Given the description of an element on the screen output the (x, y) to click on. 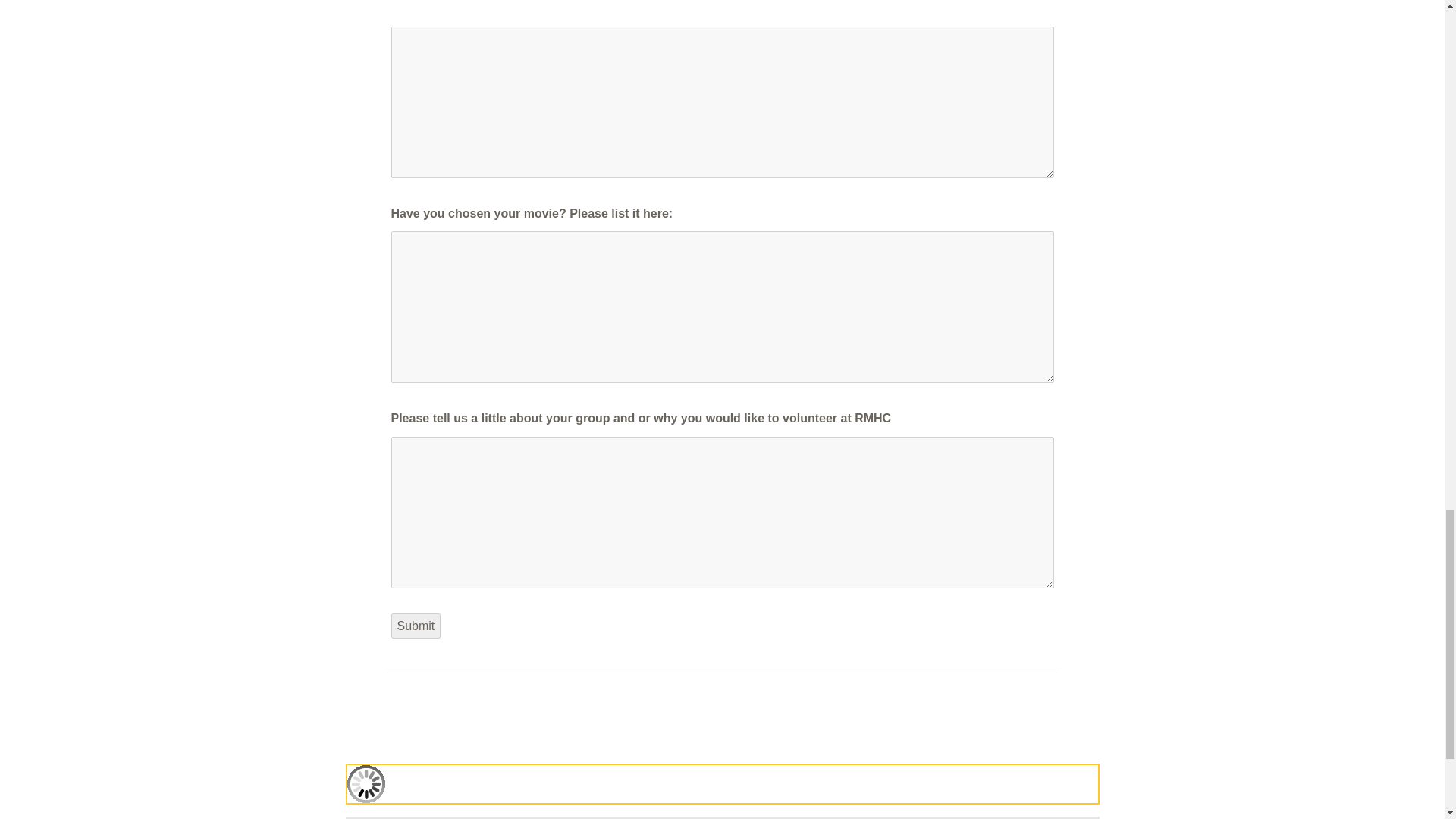
Submit (416, 625)
